Given the description of an element on the screen output the (x, y) to click on. 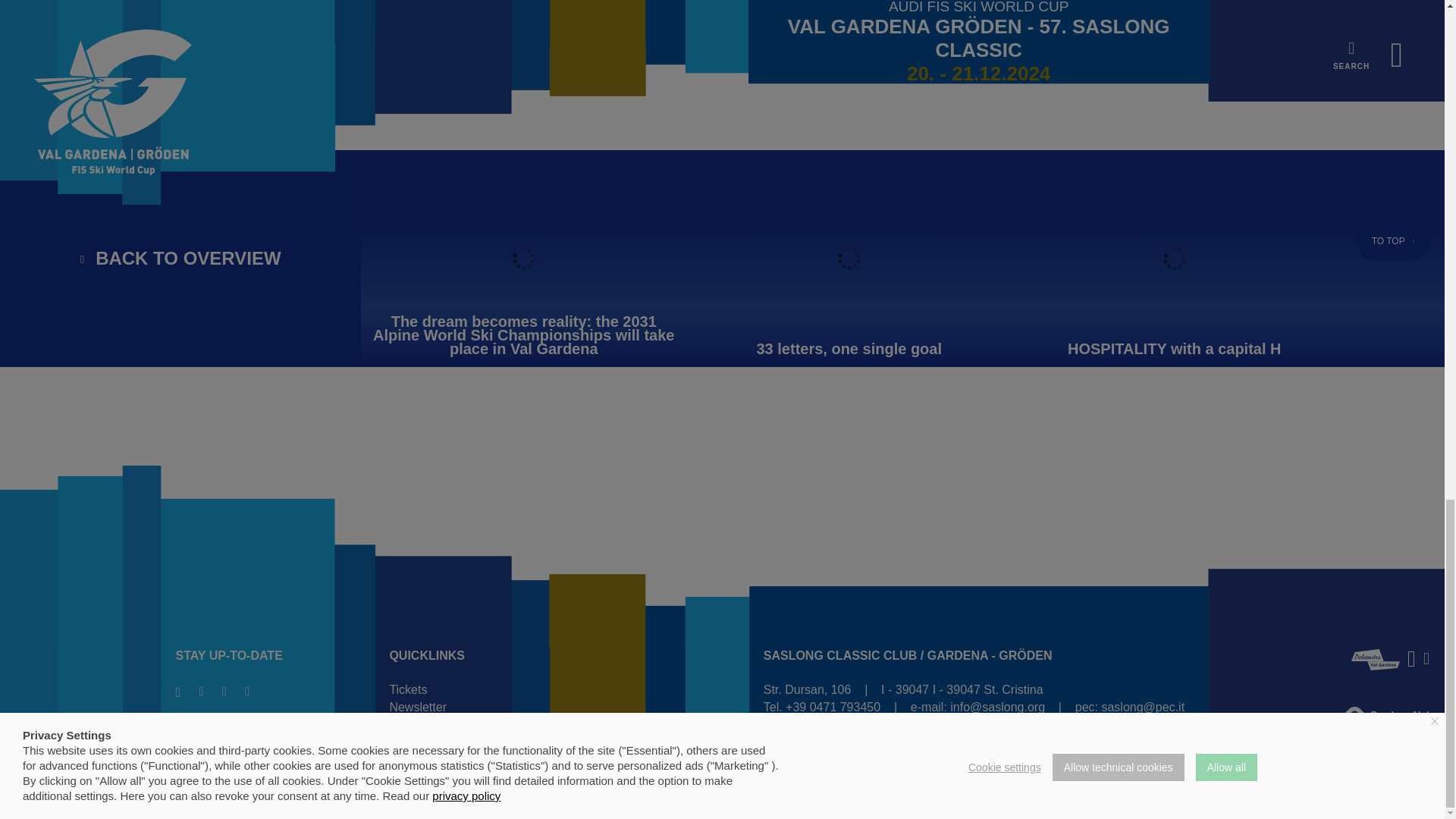
Gardena.Net (1385, 717)
Impressum (1261, 740)
